Given the description of an element on the screen output the (x, y) to click on. 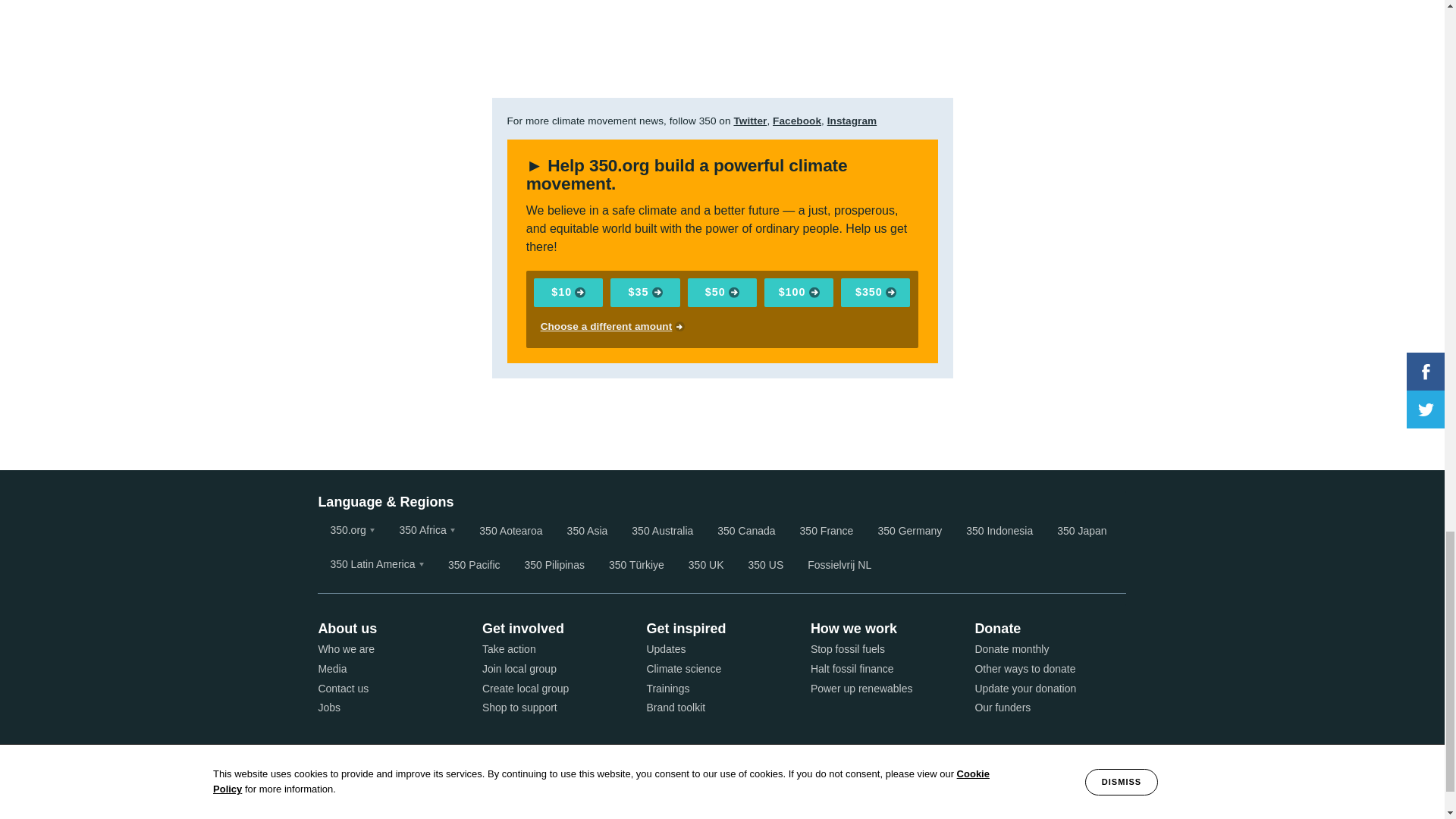
Facebook (797, 120)
Twitter (750, 120)
